Given the description of an element on the screen output the (x, y) to click on. 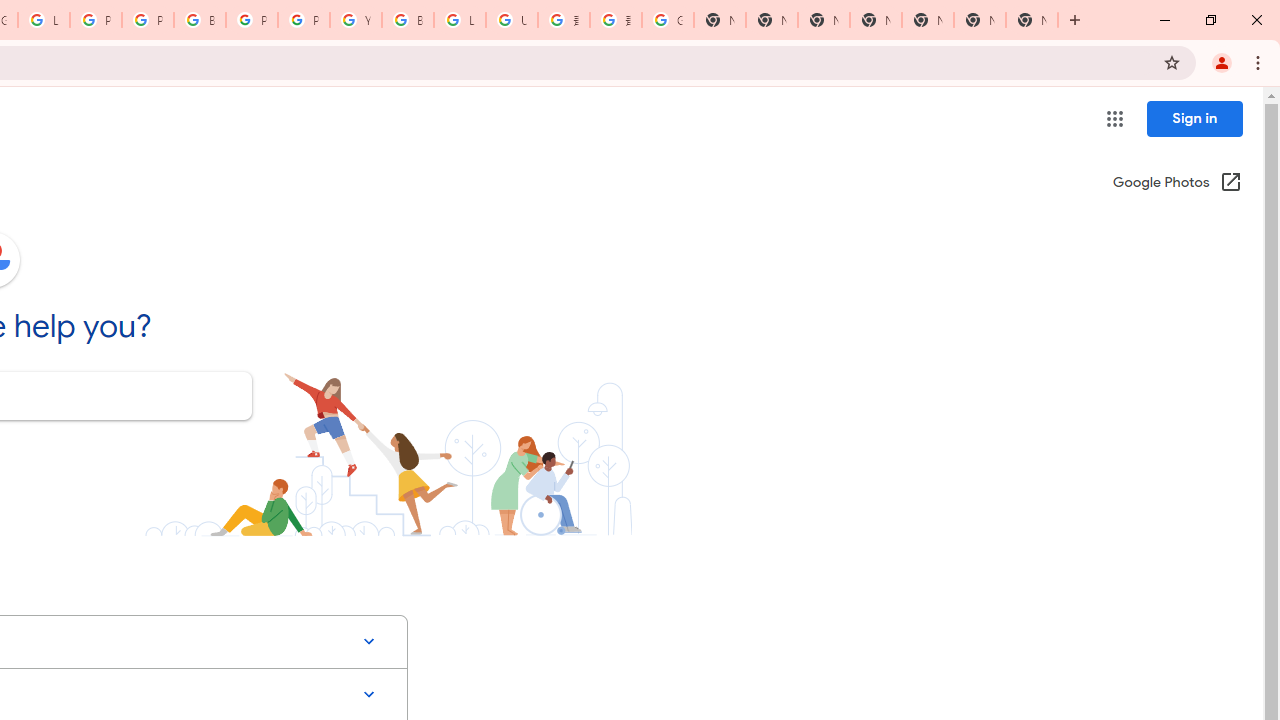
Privacy Help Center - Policies Help (147, 20)
Google Photos (Open in a new window) (1177, 183)
Privacy Help Center - Policies Help (95, 20)
Google Images (667, 20)
